Given the description of an element on the screen output the (x, y) to click on. 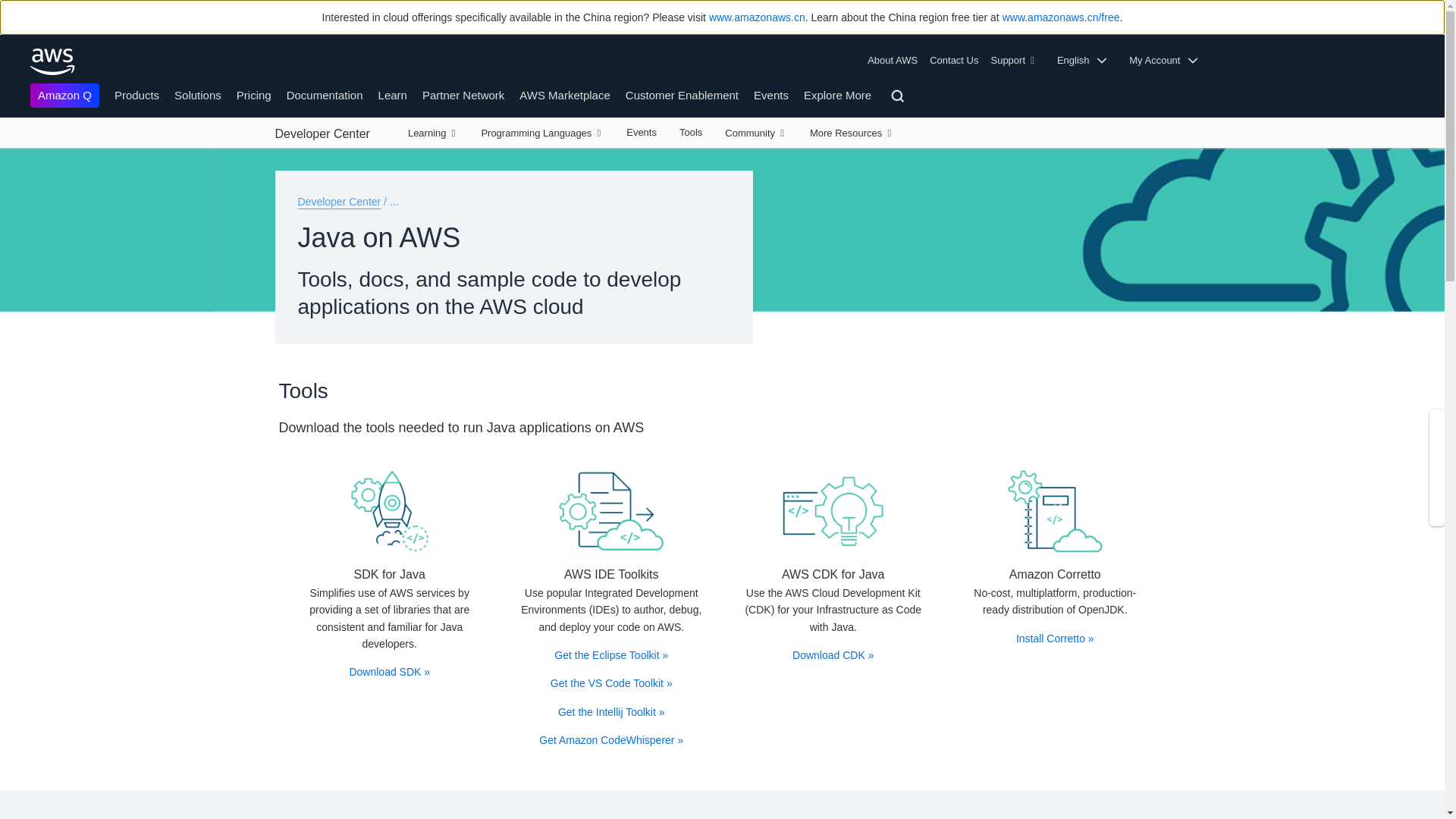
Customer Enablement (682, 94)
Products (136, 94)
AWS Marketplace (564, 94)
Contact Us (953, 60)
About AWS (895, 60)
Events (771, 94)
Support  (1016, 60)
Amazon Q (64, 95)
My Account   (1168, 60)
Solutions (833, 511)
